Given the description of an element on the screen output the (x, y) to click on. 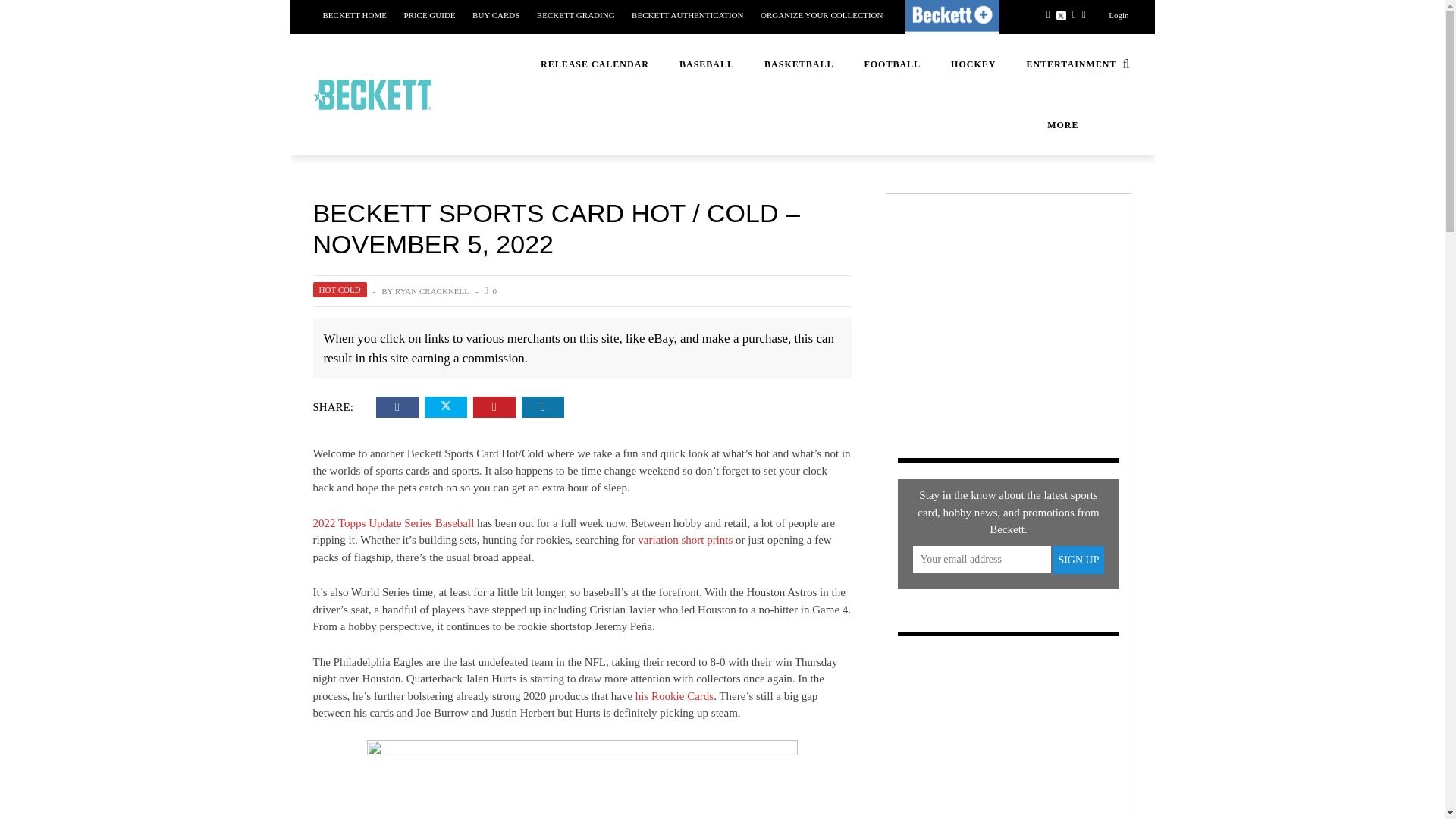
Sign up (1077, 560)
